Given the description of an element on the screen output the (x, y) to click on. 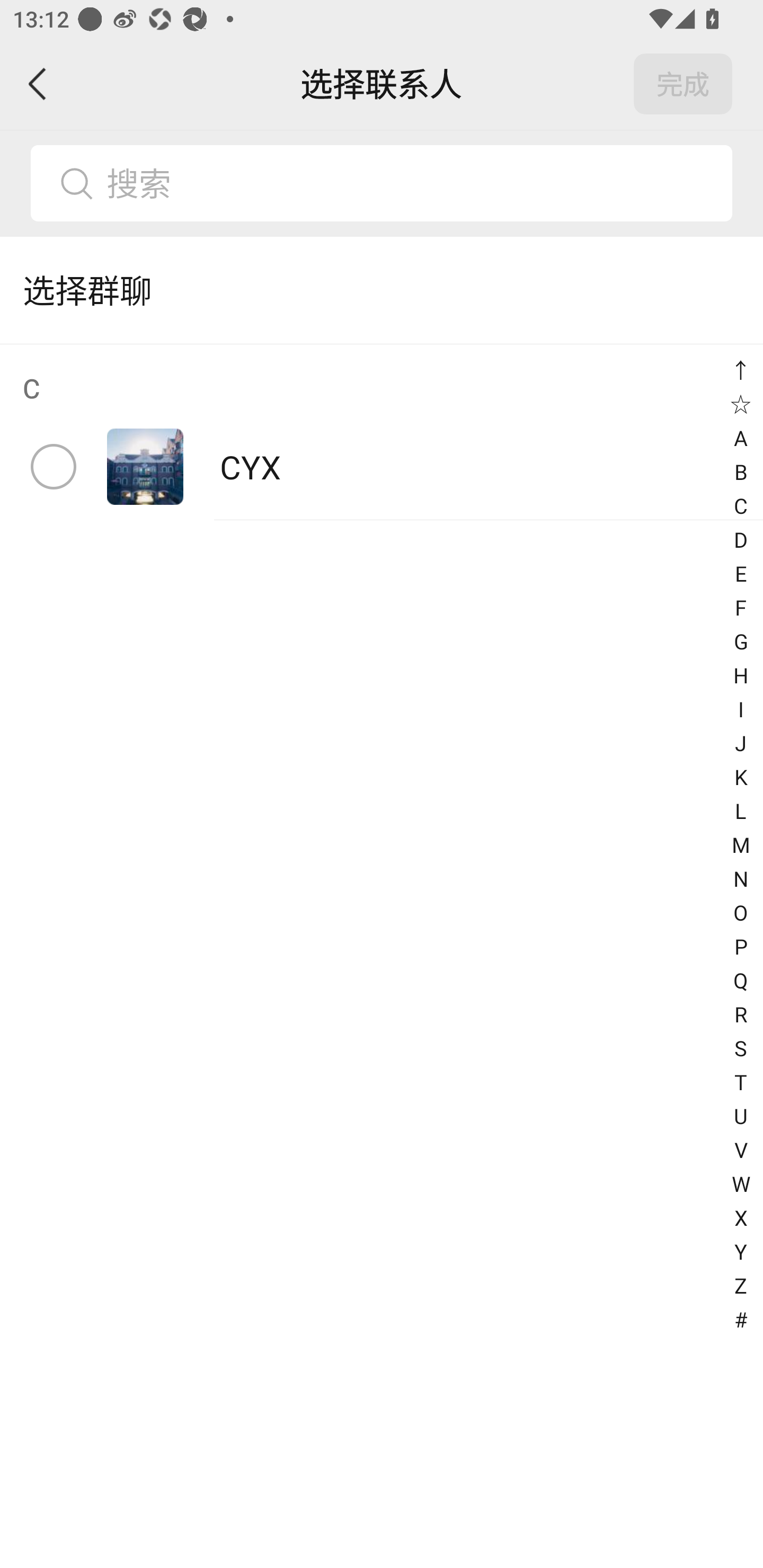
返回 (38, 83)
完成 (683, 83)
搜索 (381, 183)
搜索 (411, 183)
选择群聊 (381, 290)
C CYX (381, 432)
